Given the description of an element on the screen output the (x, y) to click on. 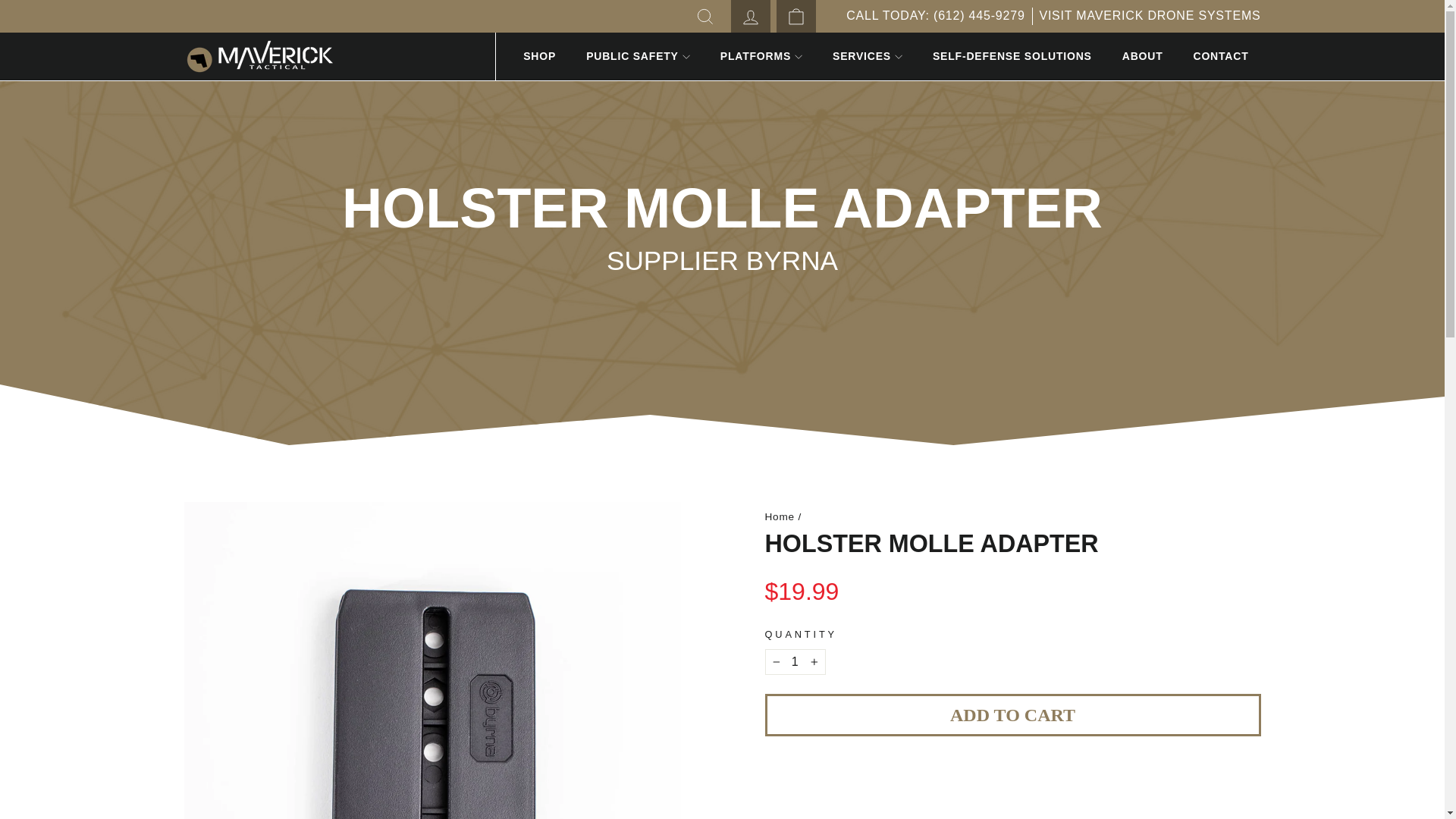
ICON-BAG-MINIMAL (796, 16)
SHOP (539, 56)
SEARCH (795, 16)
VISIT MAVERICK DRONE SYSTEMS (705, 16)
Back to the frontpage (1149, 15)
LOG IN (778, 516)
1 (750, 16)
